Given the description of an element on the screen output the (x, y) to click on. 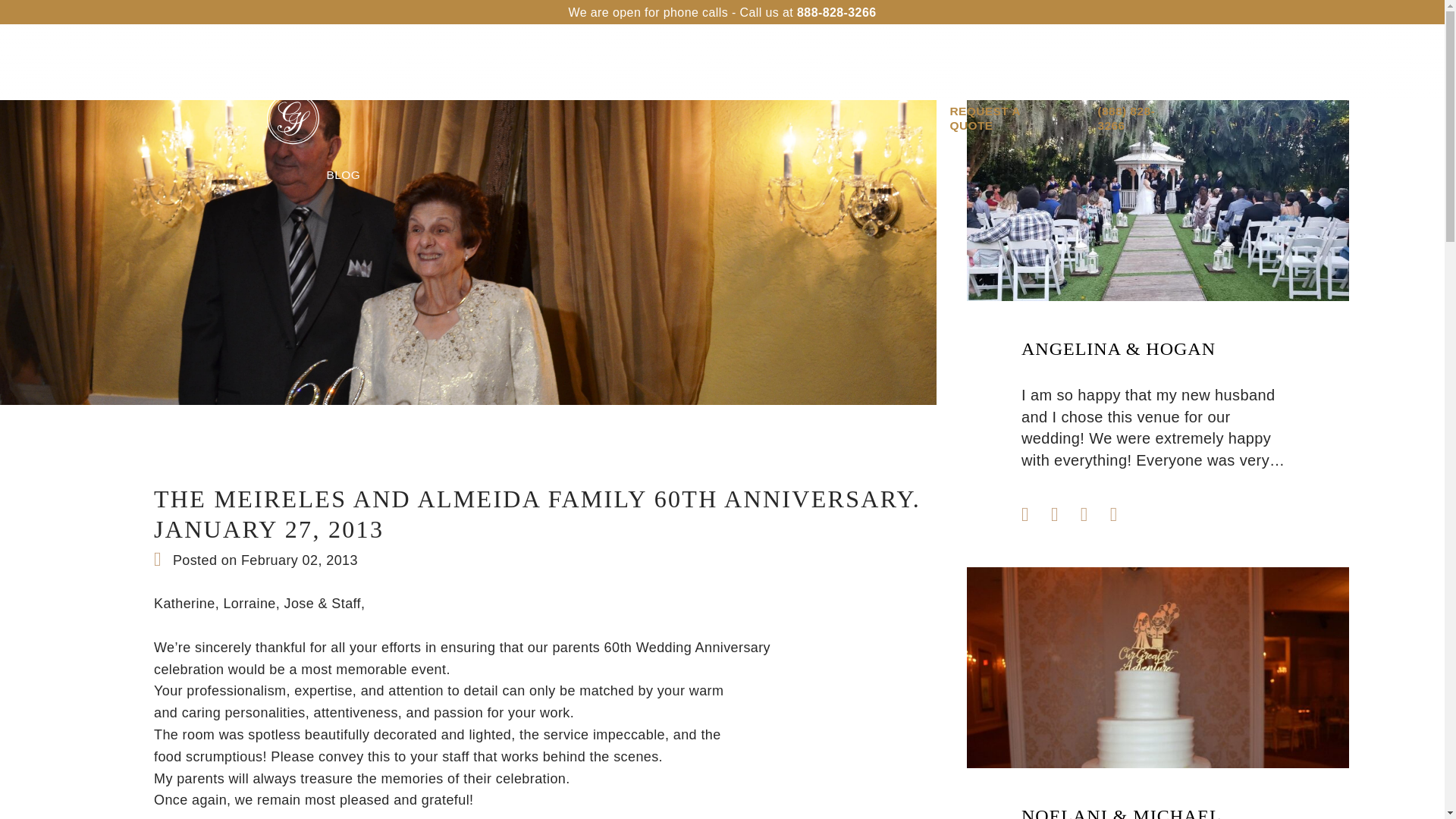
REQUEST A QUOTE (1005, 118)
EVENT TYPES (589, 61)
888-828-3266 (836, 11)
EVENTS GALLERY (722, 61)
OUR VENUES (366, 61)
UPGRADES (478, 61)
BLOG (342, 174)
VENDORS (843, 61)
